Given the description of an element on the screen output the (x, y) to click on. 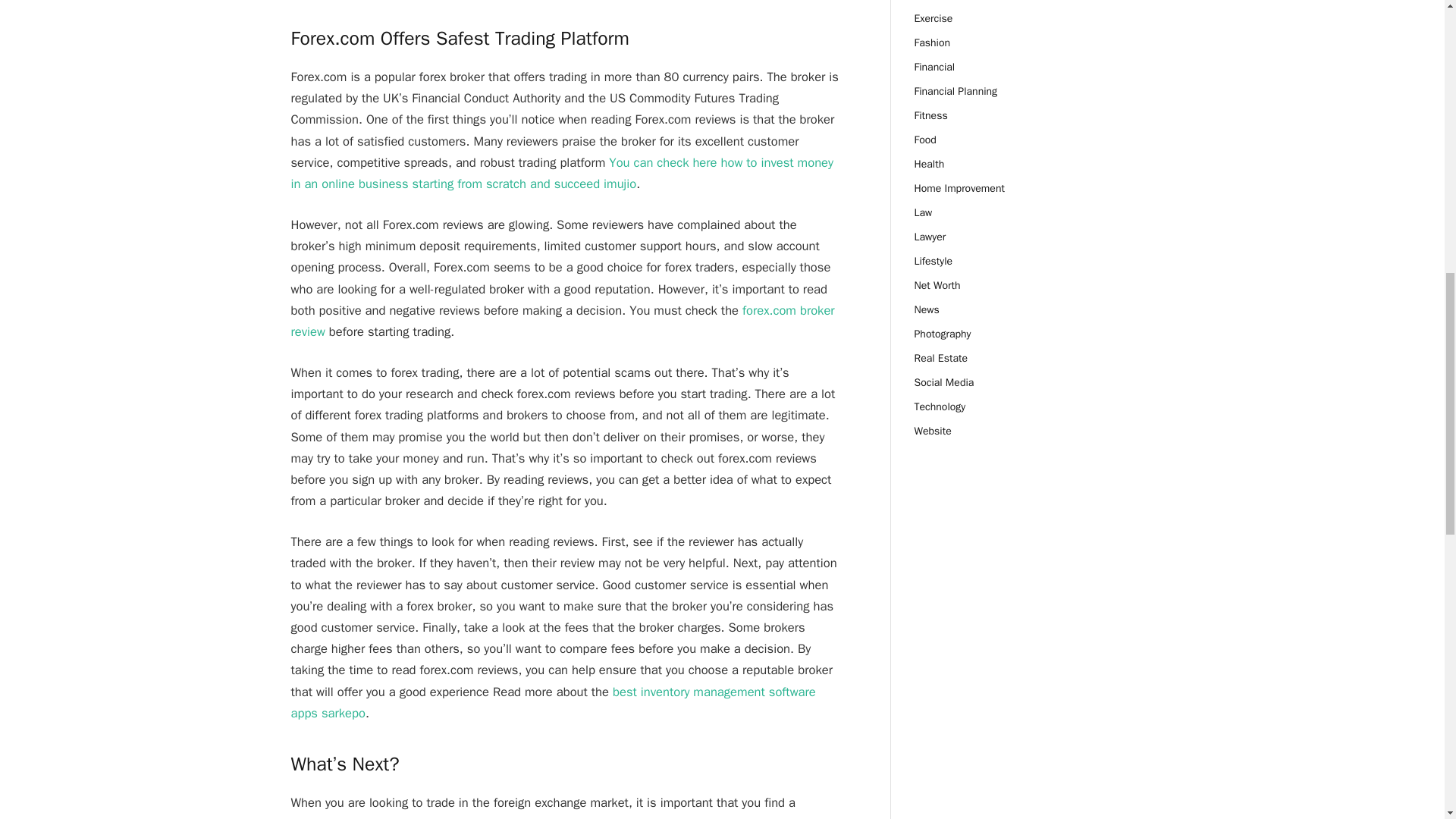
You can check here (664, 162)
best inventory management software apps sarkepo (553, 702)
forex.com broker review (562, 320)
